Given the description of an element on the screen output the (x, y) to click on. 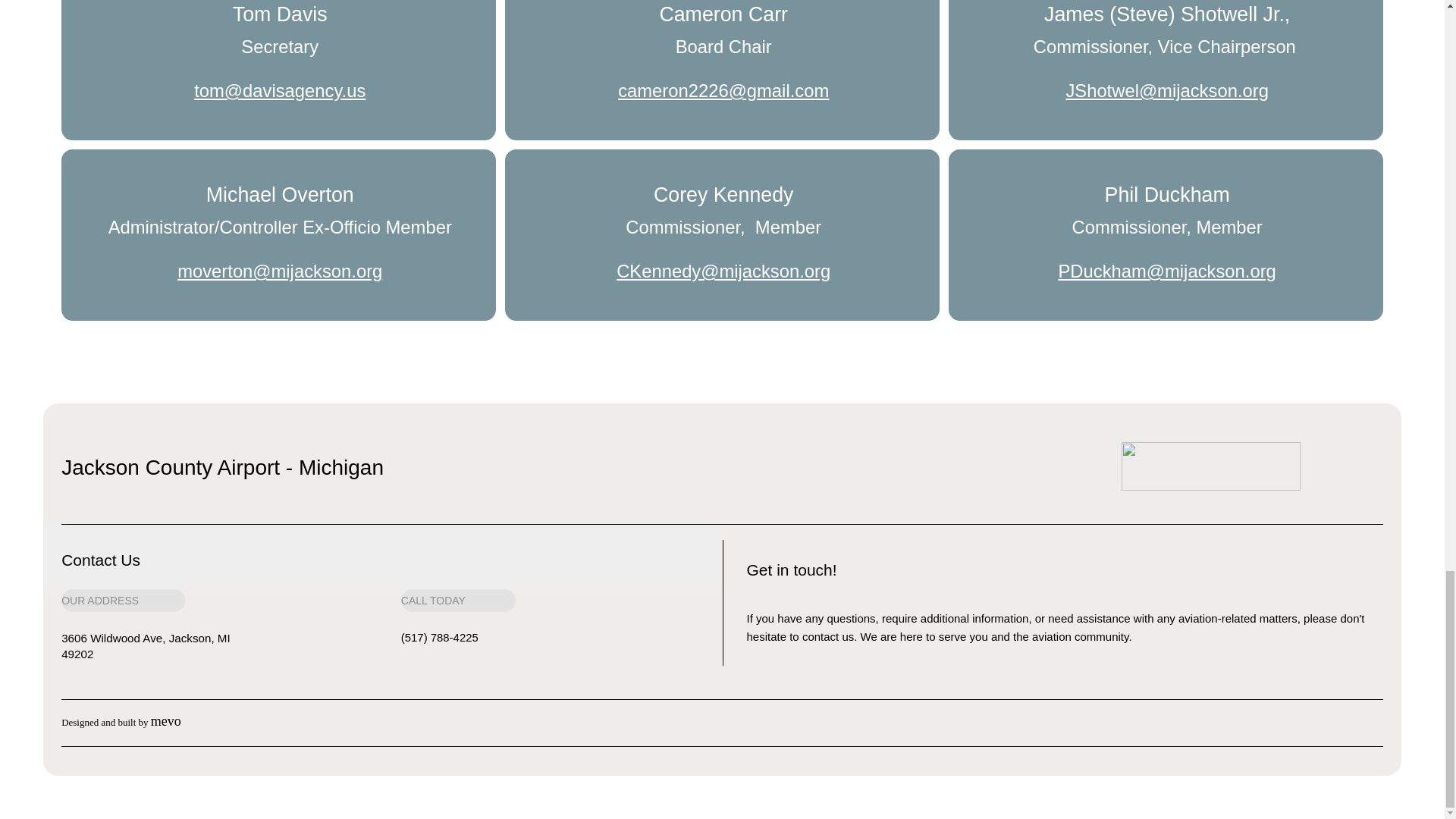
Phil Duckham (1167, 194)
OUR ADDRESS (122, 599)
Designed and built by mevo (120, 722)
CALL TODAY (458, 599)
